Given the description of an element on the screen output the (x, y) to click on. 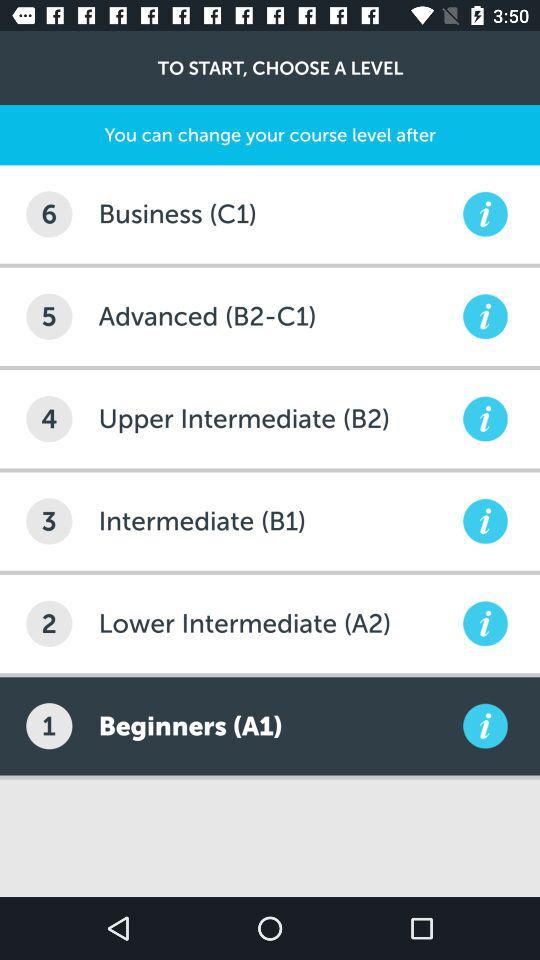
click for more information (485, 214)
